Given the description of an element on the screen output the (x, y) to click on. 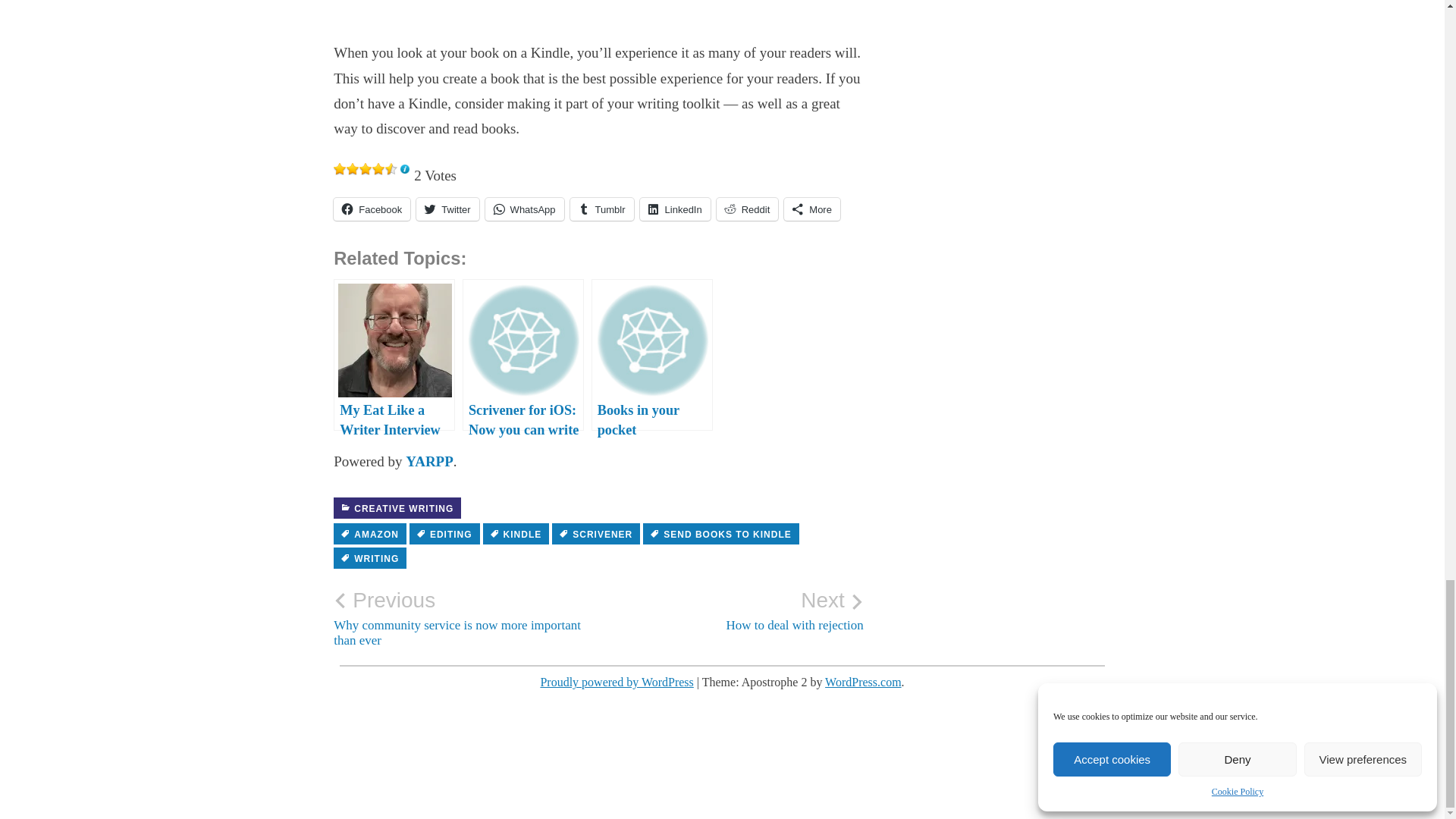
Advertisement (598, 22)
Click to share on WhatsApp (524, 209)
Click to share on LinkedIn (675, 209)
Click to share on Reddit (747, 209)
Click to share on Twitter (447, 209)
Click to share on Facebook (371, 209)
Click to share on Tumblr (601, 209)
